Given the description of an element on the screen output the (x, y) to click on. 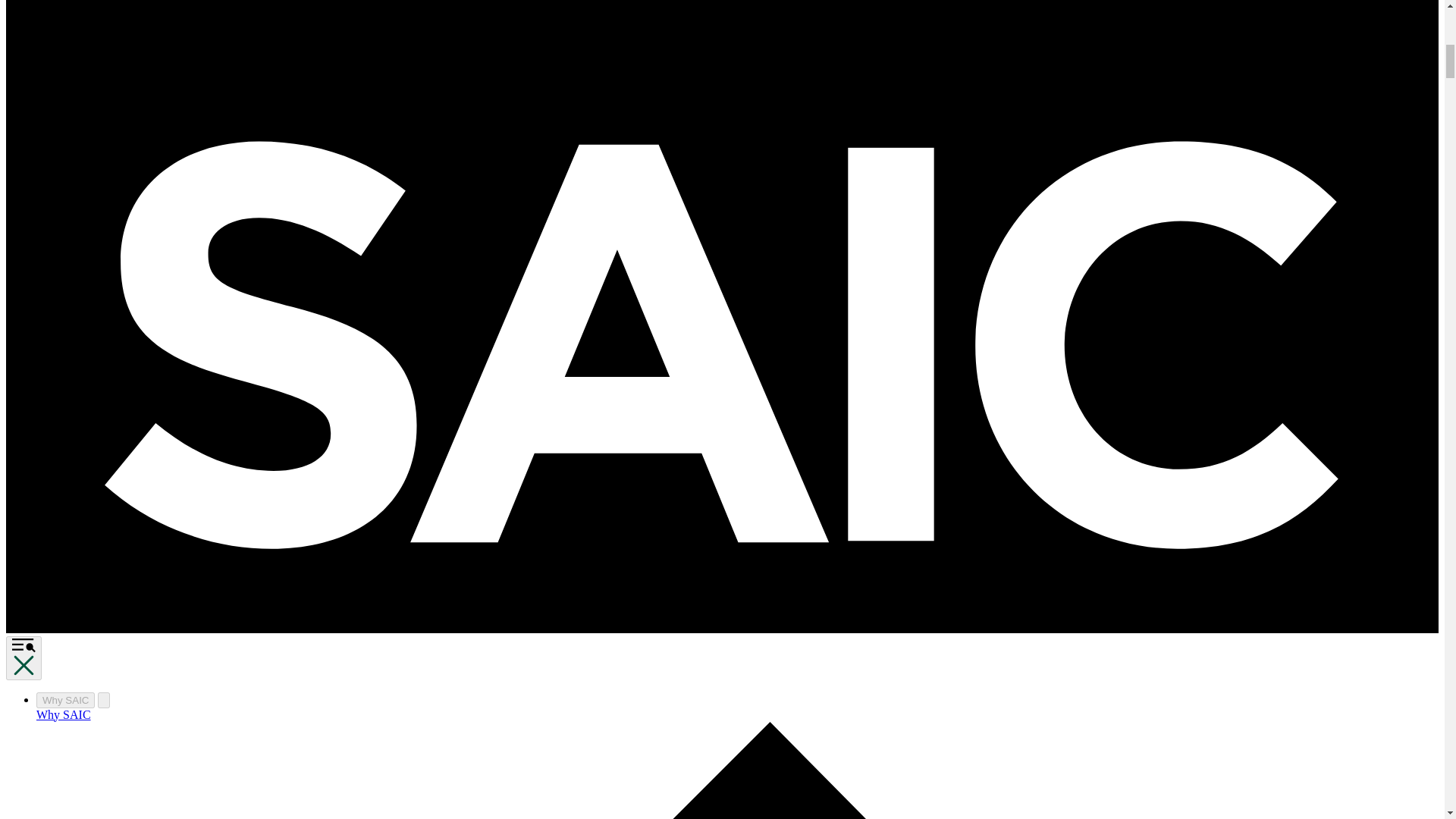
Why SAIC (63, 714)
Why SAIC (65, 700)
